Given the description of an element on the screen output the (x, y) to click on. 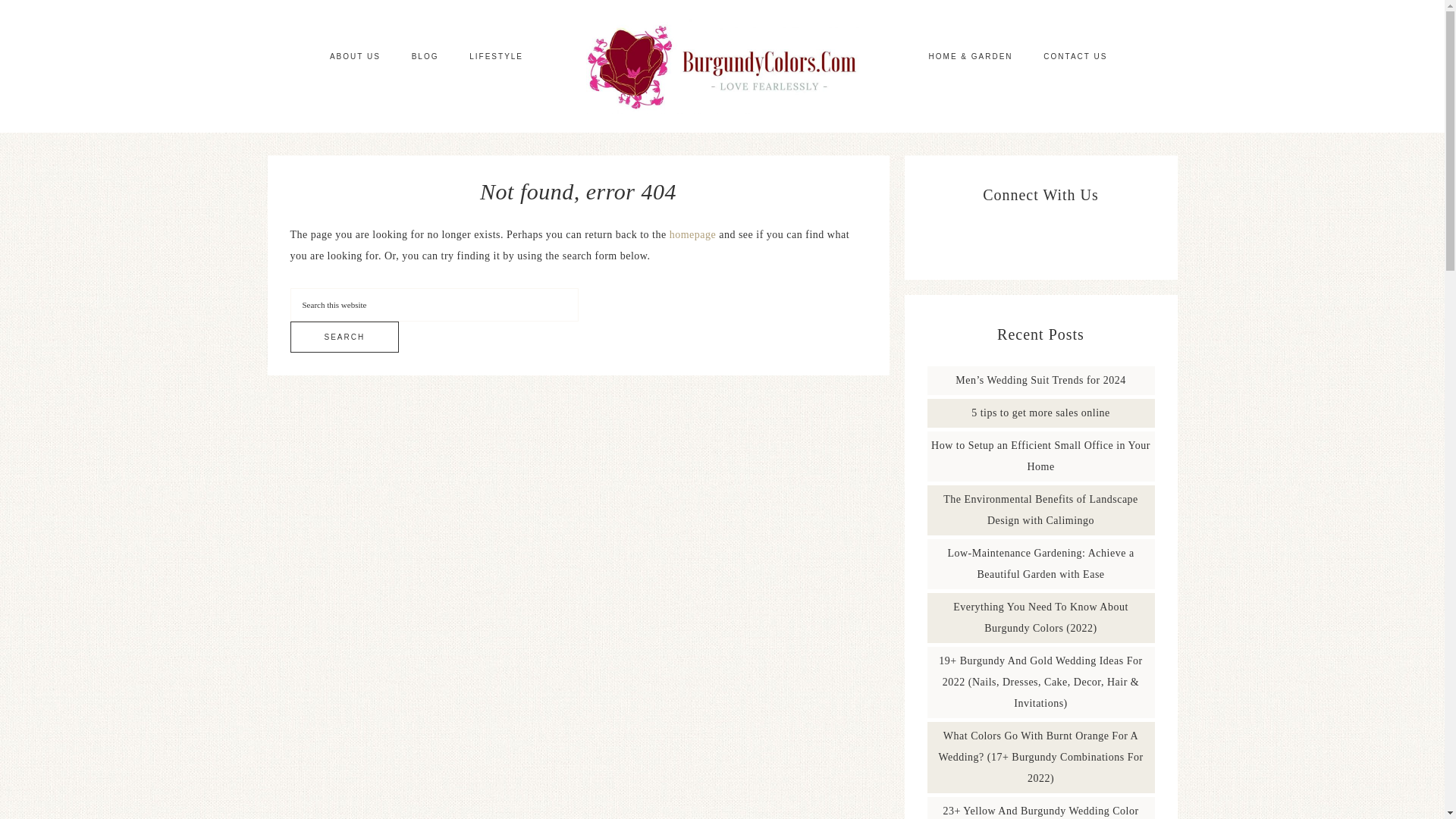
CONTACT US (1075, 56)
ABOUT US (354, 56)
5 tips to get more sales online (1040, 412)
LIFESTYLE (496, 56)
Search (343, 336)
Search (343, 336)
How to Setup an Efficient Small Office in Your Home (1040, 455)
BURGUNDY COLORS (722, 65)
BLOG (424, 56)
Search (343, 336)
homepage (692, 234)
